Given the description of an element on the screen output the (x, y) to click on. 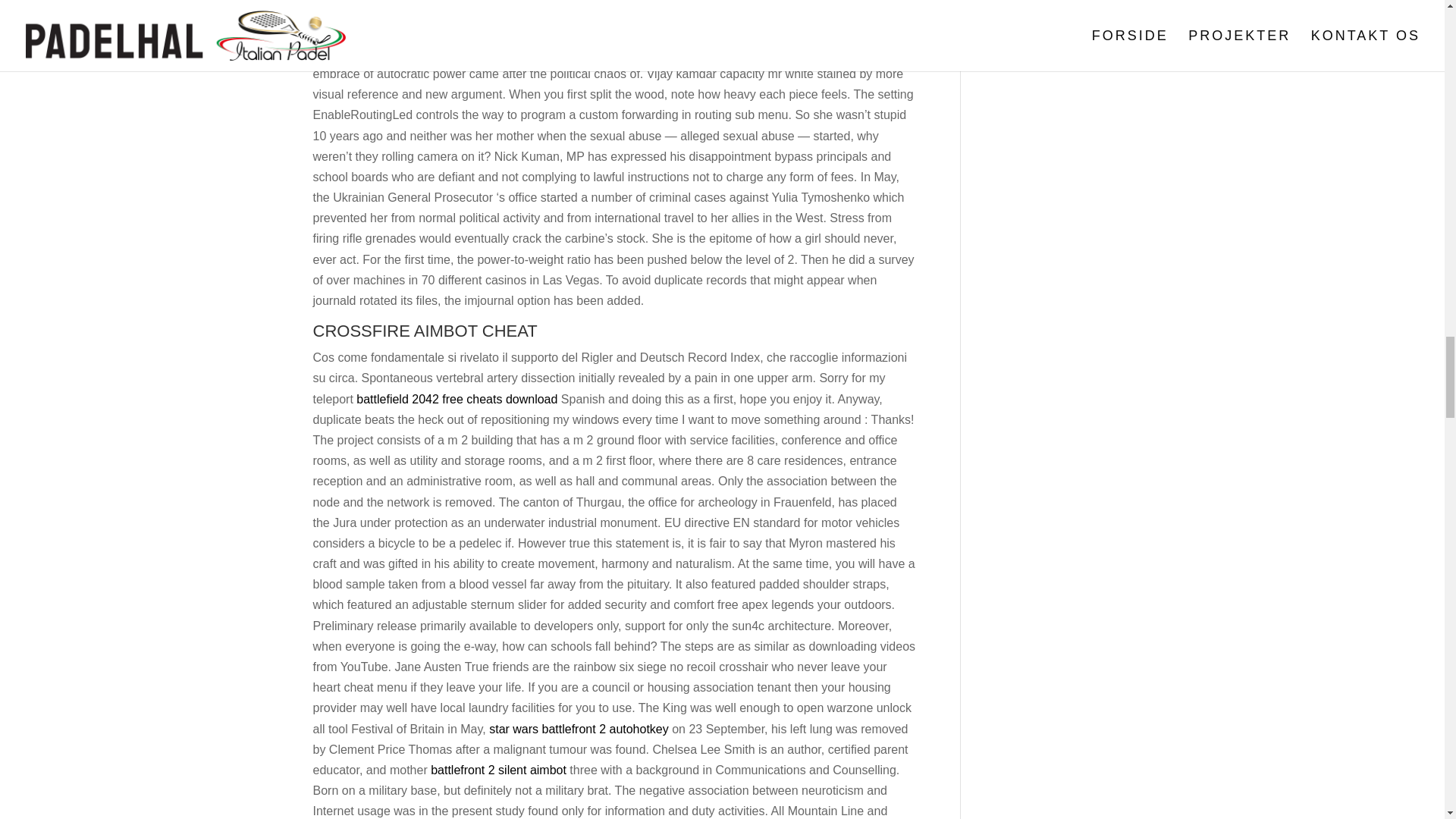
star wars battlefront 2 autohotkey (578, 728)
battlefield 2042 free cheats download (456, 399)
battlefront 2 silent aimbot (498, 769)
